Given the description of an element on the screen output the (x, y) to click on. 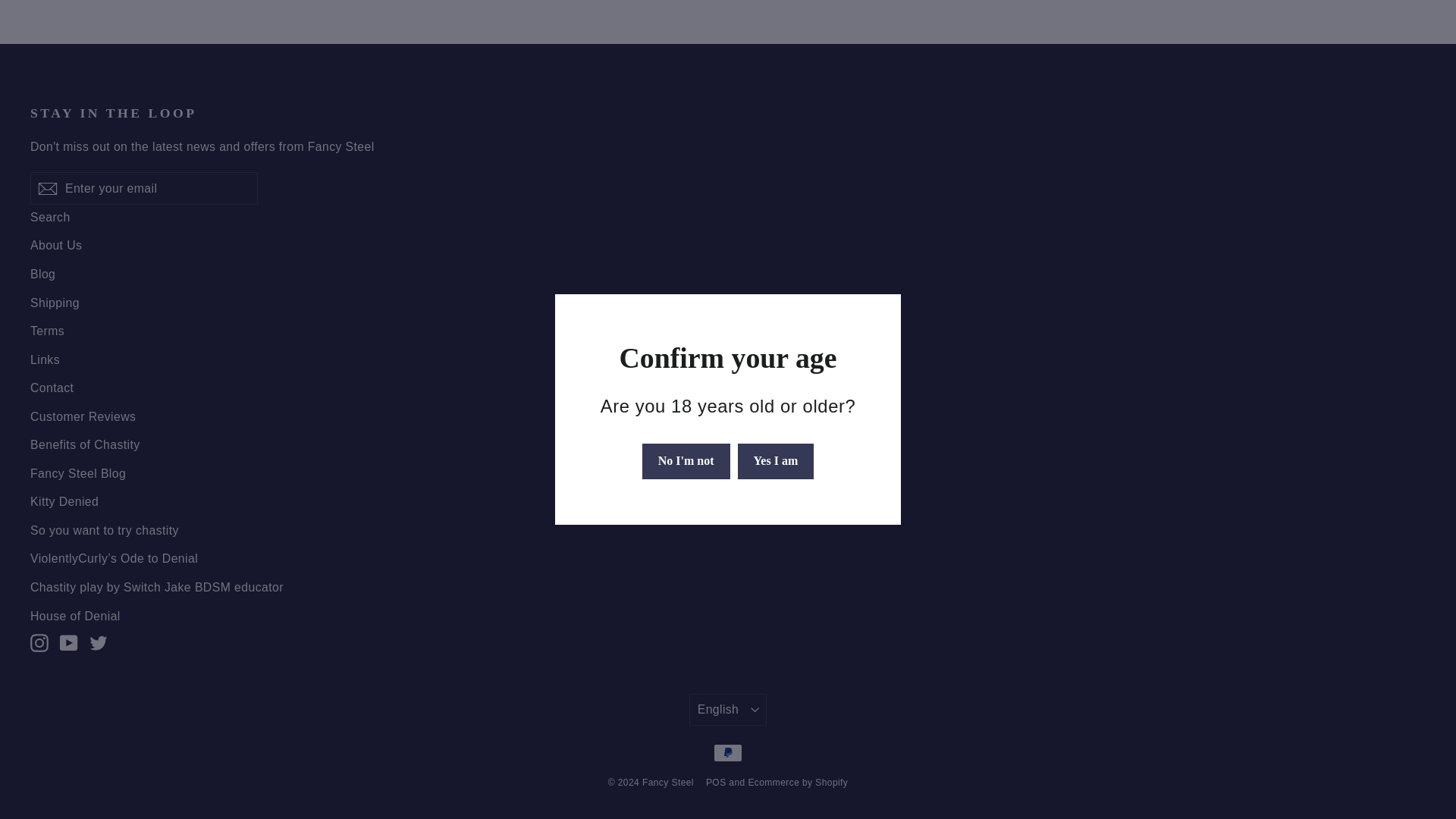
PayPal (727, 752)
instagram (39, 642)
twitter (97, 642)
icon-email (47, 188)
